Given the description of an element on the screen output the (x, y) to click on. 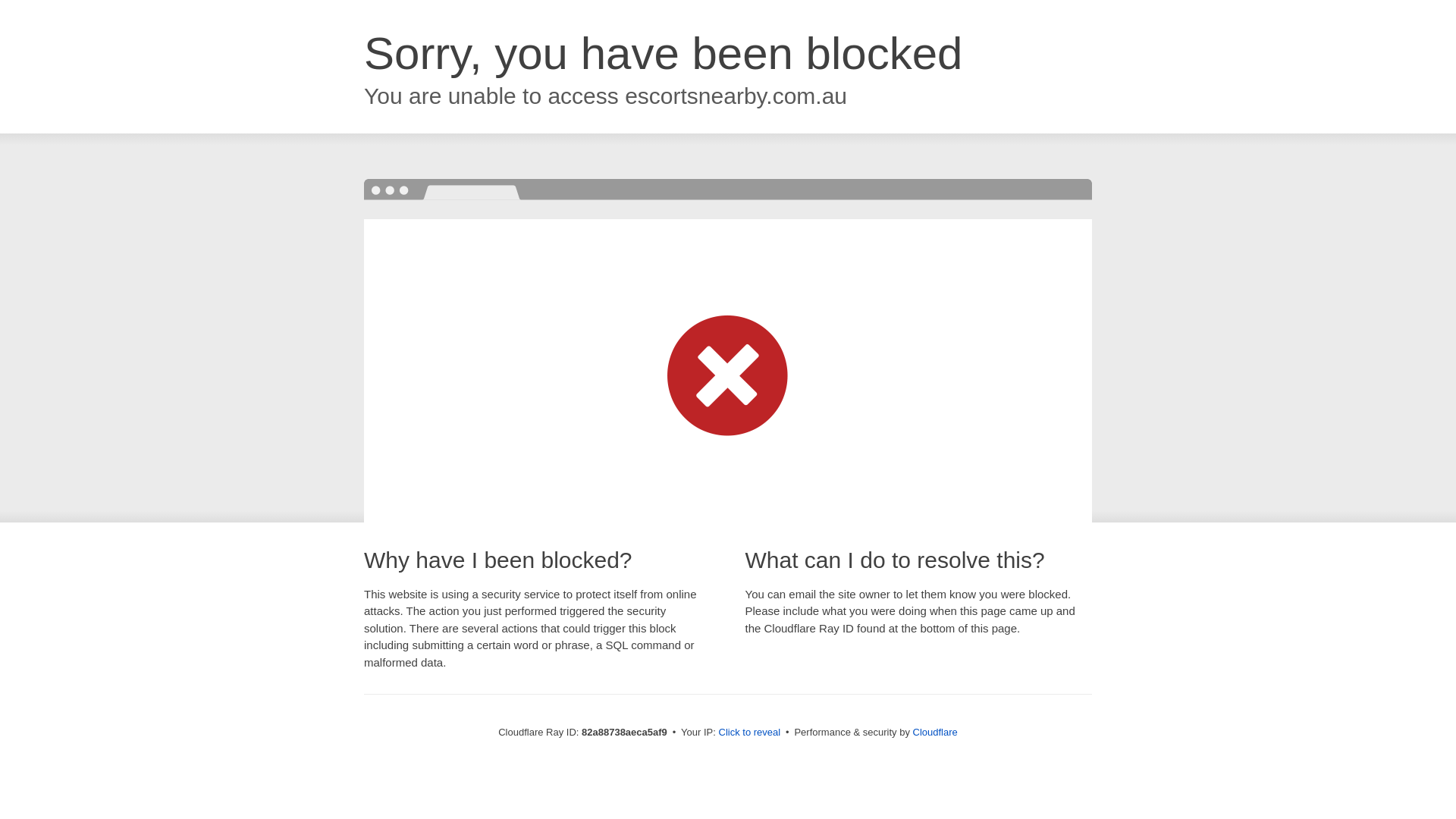
Cloudflare Element type: text (935, 731)
Click to reveal Element type: text (749, 732)
